Given the description of an element on the screen output the (x, y) to click on. 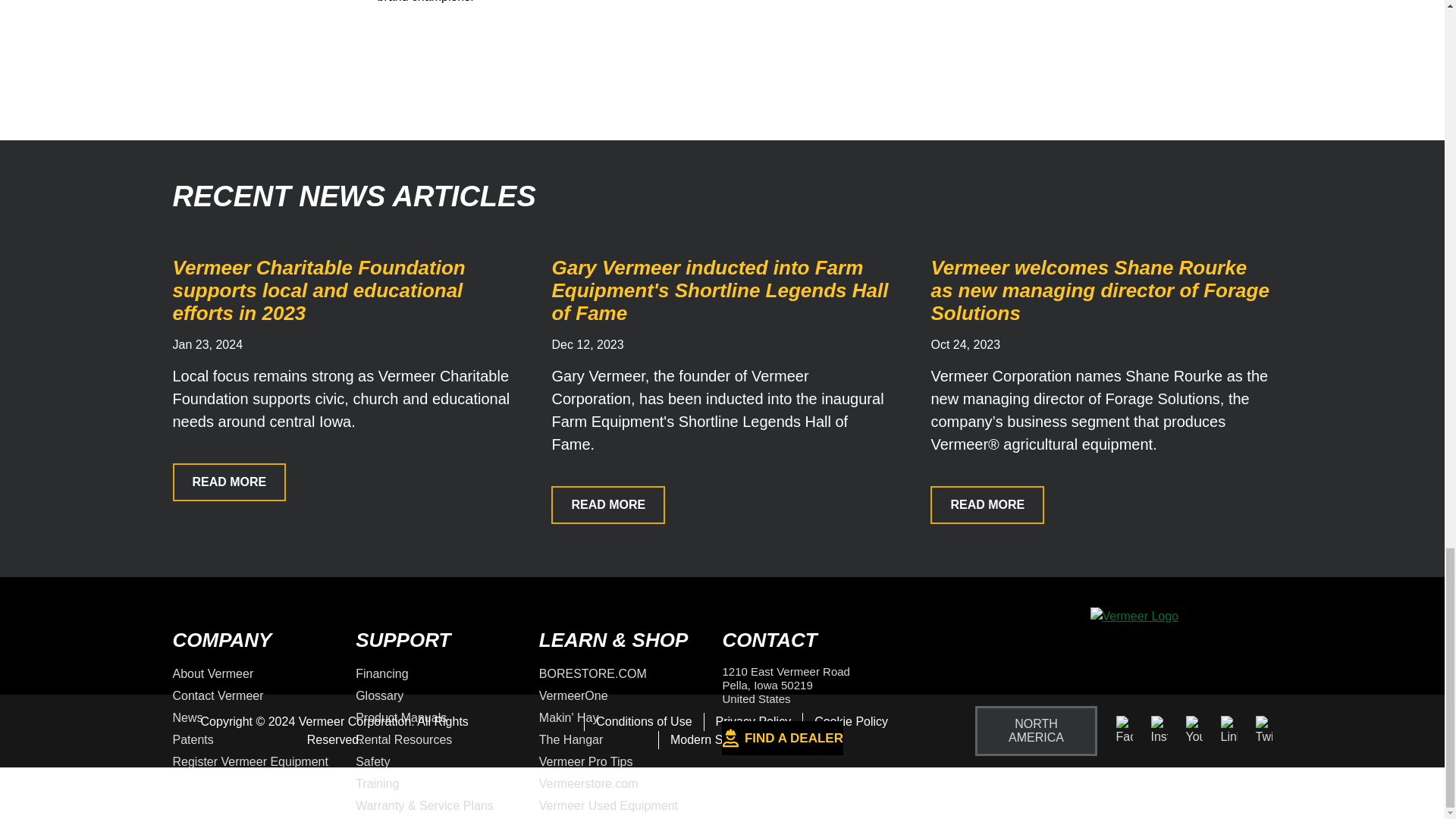
Vermeer Pro Tips (585, 761)
Vermeerstore.com (588, 783)
Training (376, 783)
Contact Vermeer (218, 695)
Product Manuals (400, 717)
Financing (381, 673)
Glossary (379, 695)
Makin' Hay (568, 717)
Patents (193, 739)
Register Vermeer Equipment (251, 761)
